Given the description of an element on the screen output the (x, y) to click on. 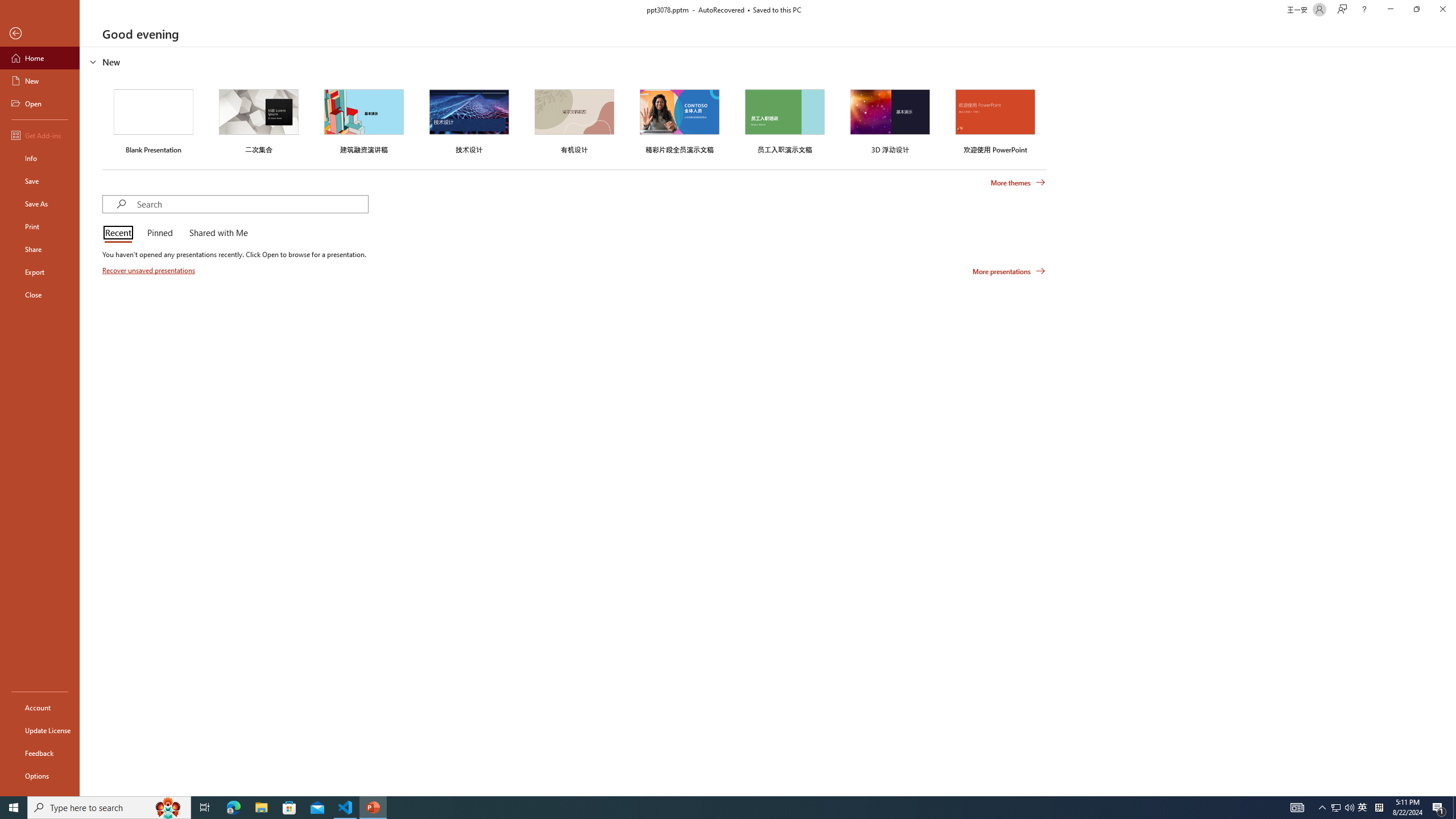
Export (40, 271)
Options (40, 775)
Blank Presentation (153, 119)
Feedback (40, 753)
Class: NetUIScrollBar (1450, 421)
Print (40, 225)
Open (40, 102)
